Given the description of an element on the screen output the (x, y) to click on. 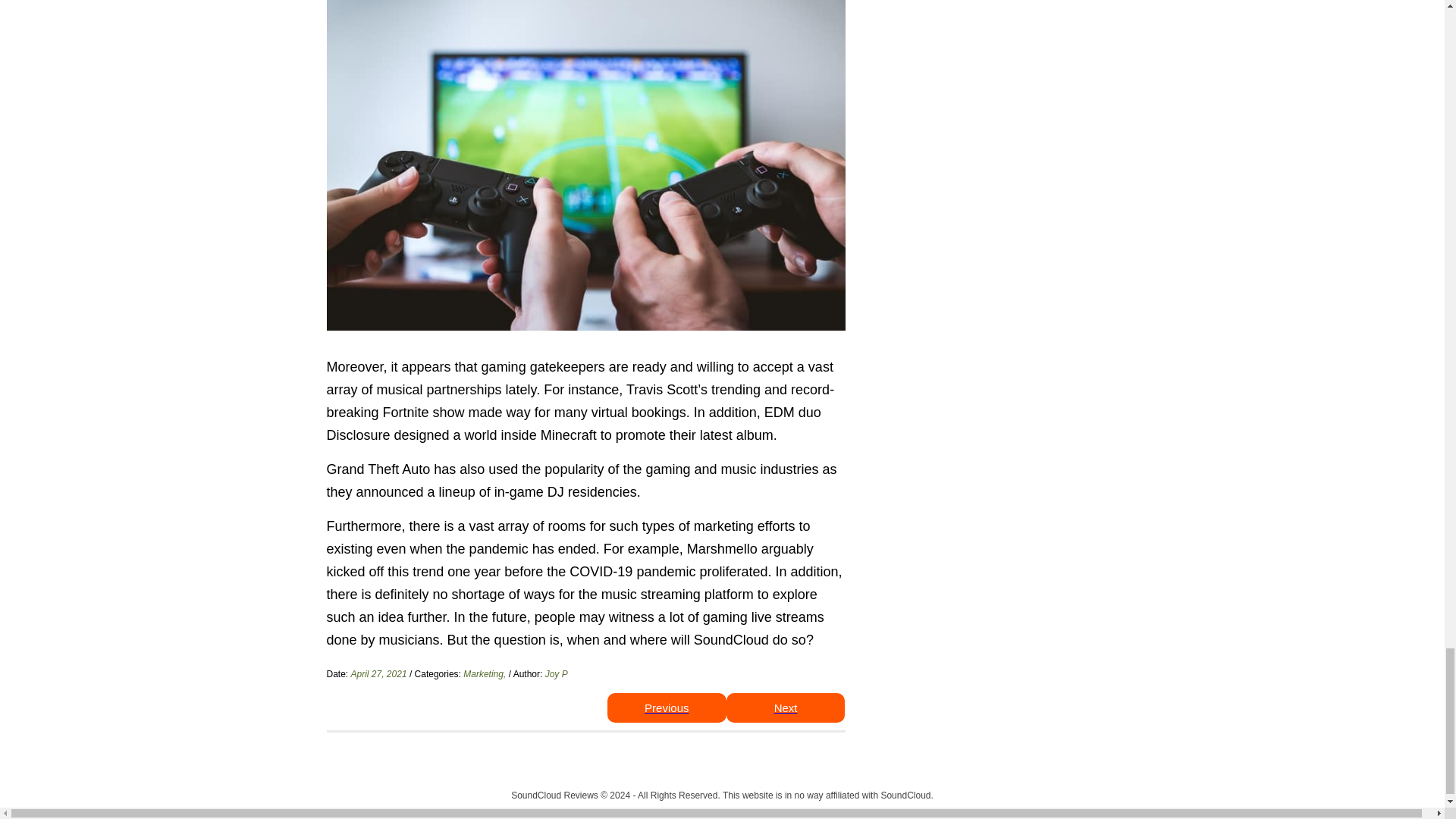
Previous (666, 707)
Next (785, 707)
